Given the description of an element on the screen output the (x, y) to click on. 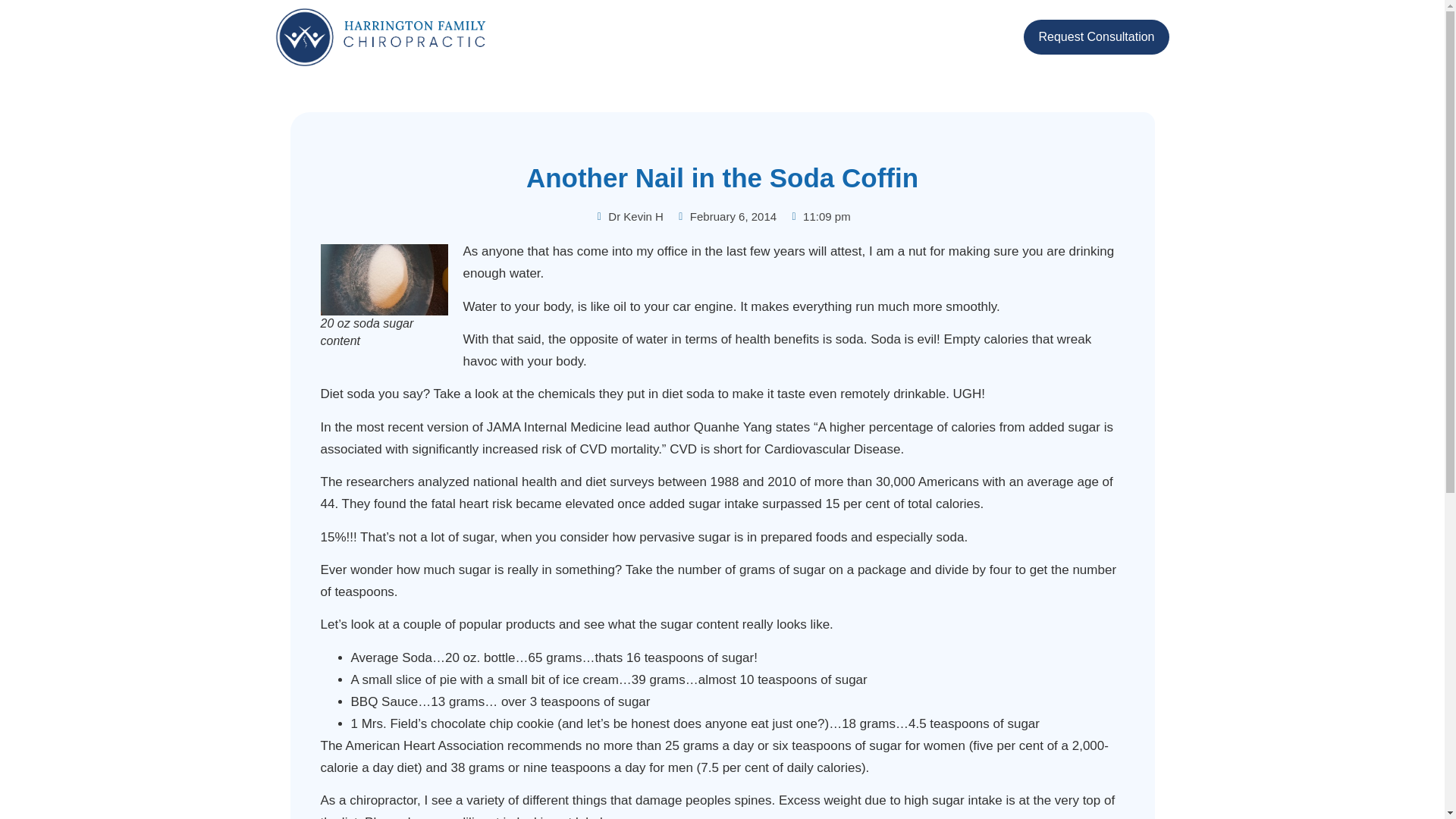
Dr Kevin H (628, 217)
Request Consultation (1096, 36)
February 6, 2014 (725, 217)
